Given the description of an element on the screen output the (x, y) to click on. 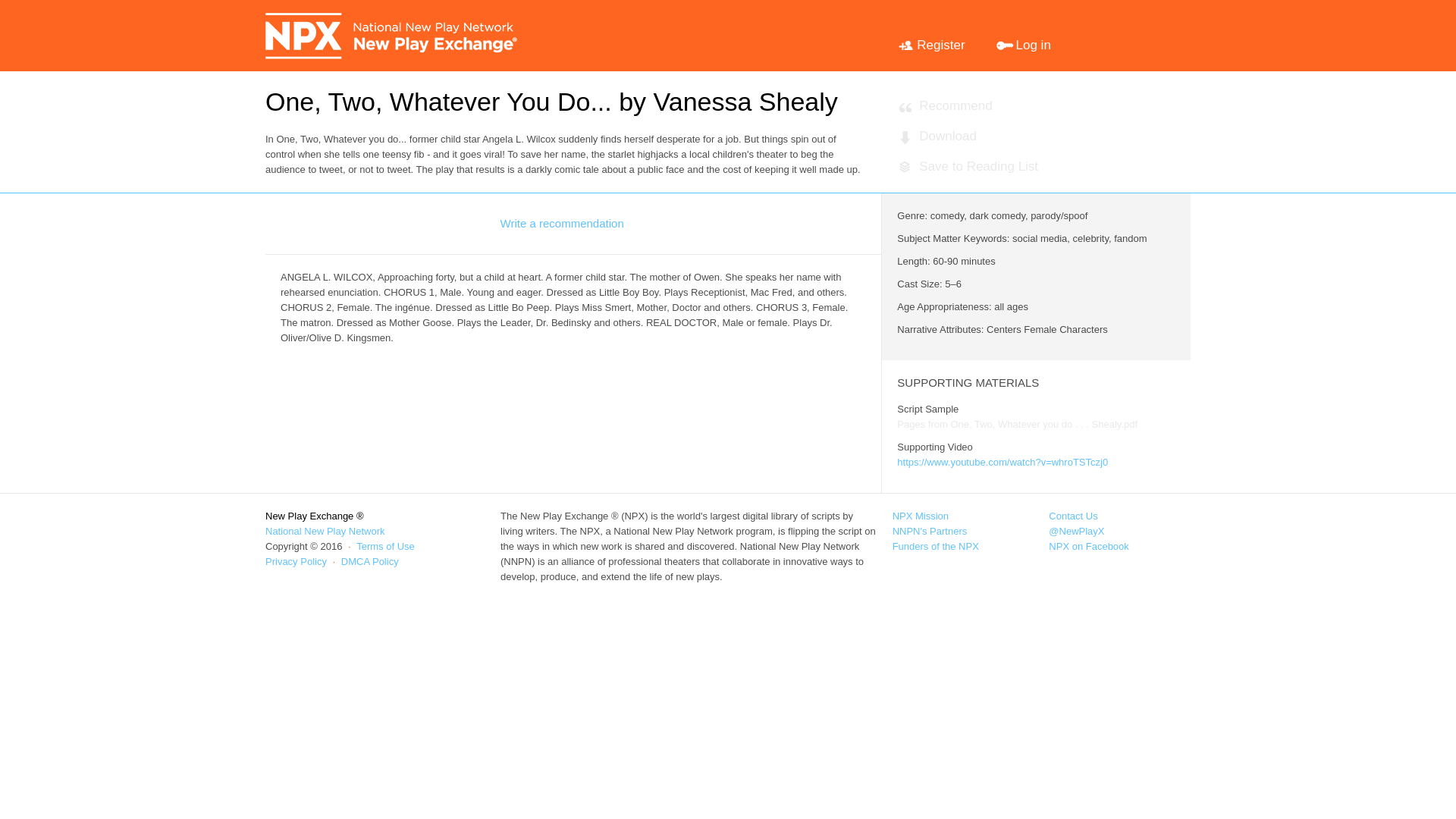
Return to the New Play Exchange home page (391, 35)
Contact Us (1072, 515)
Log in (1022, 35)
Register (929, 35)
NPX on Facebook (1088, 546)
NPX Mission (920, 515)
National New Play Network (324, 531)
Privacy Policy (295, 561)
Funders of the NPX (935, 546)
Write a recommendation (562, 223)
Terms of Use (385, 546)
NNPN's Partners (930, 531)
DMCA Policy (369, 561)
